Given the description of an element on the screen output the (x, y) to click on. 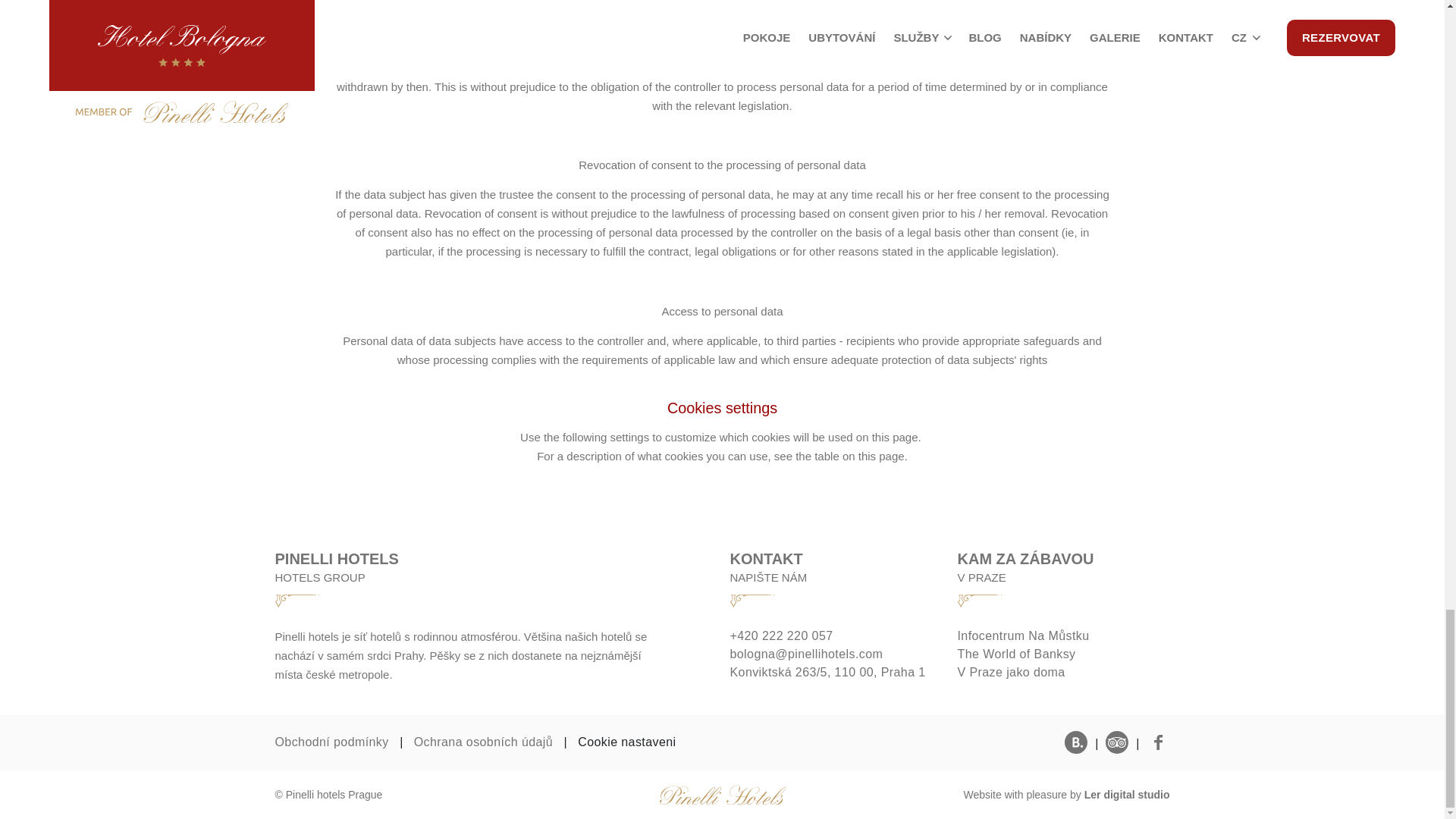
The World of Banksy (1062, 654)
V Praze jako doma (1062, 672)
